Given the description of an element on the screen output the (x, y) to click on. 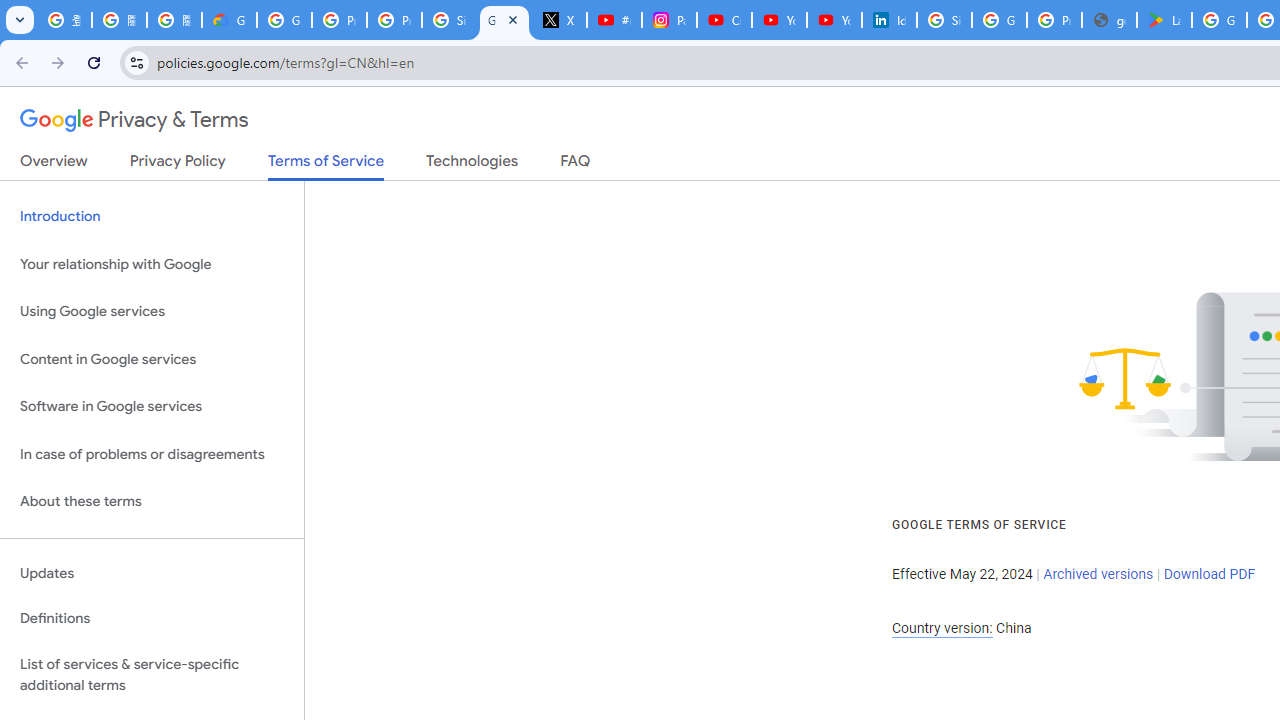
About these terms (152, 502)
X (559, 20)
Privacy Help Center - Policies Help (394, 20)
Sign in - Google Accounts (449, 20)
